Given the description of an element on the screen output the (x, y) to click on. 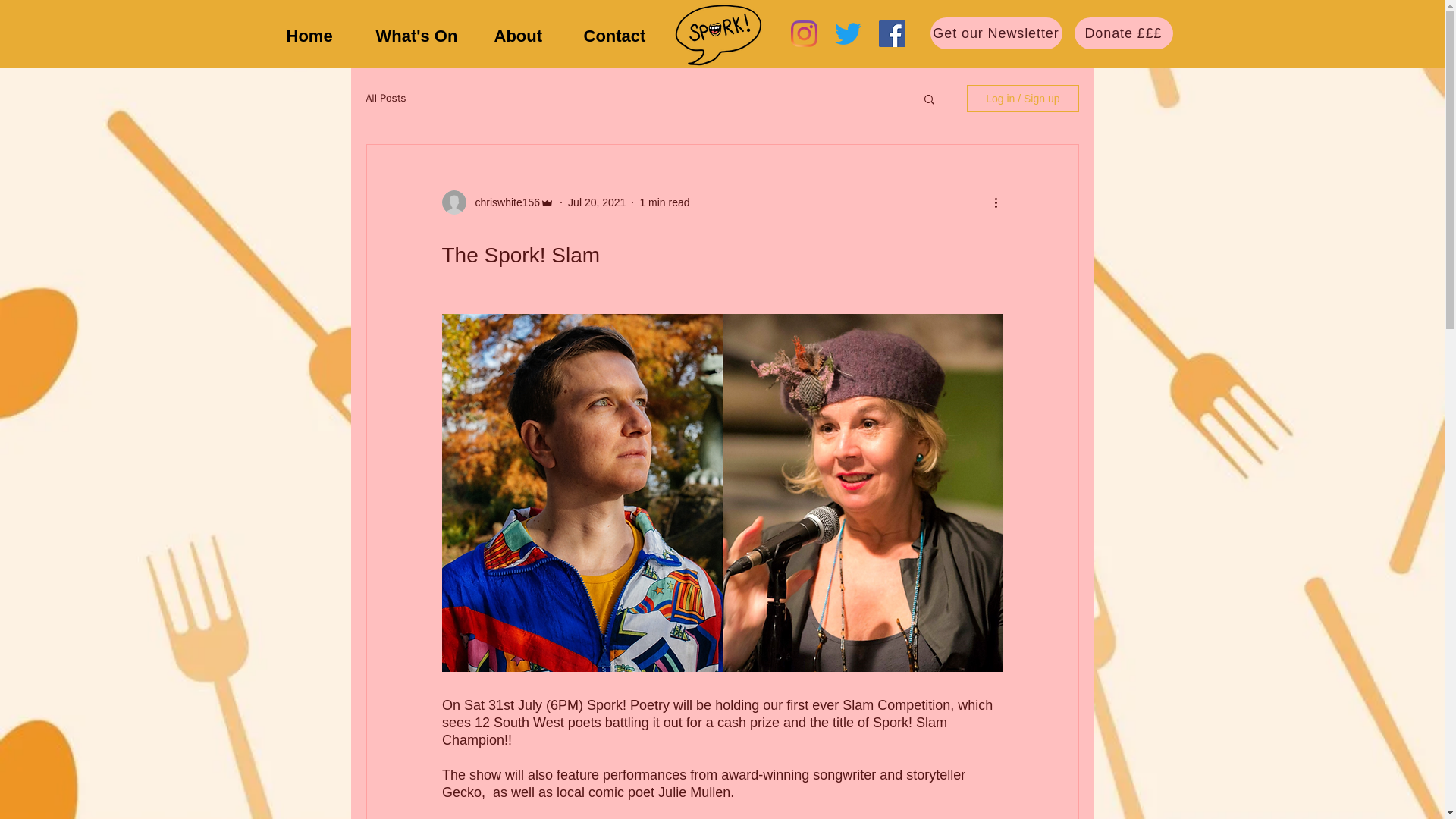
All Posts (385, 98)
Contact (621, 35)
Jul 20, 2021 (596, 201)
Spork element line.png (716, 34)
About (526, 35)
What's On (422, 35)
Home (319, 35)
1 min read (663, 201)
chriswhite156 (502, 201)
Get our Newsletter (995, 33)
